Given the description of an element on the screen output the (x, y) to click on. 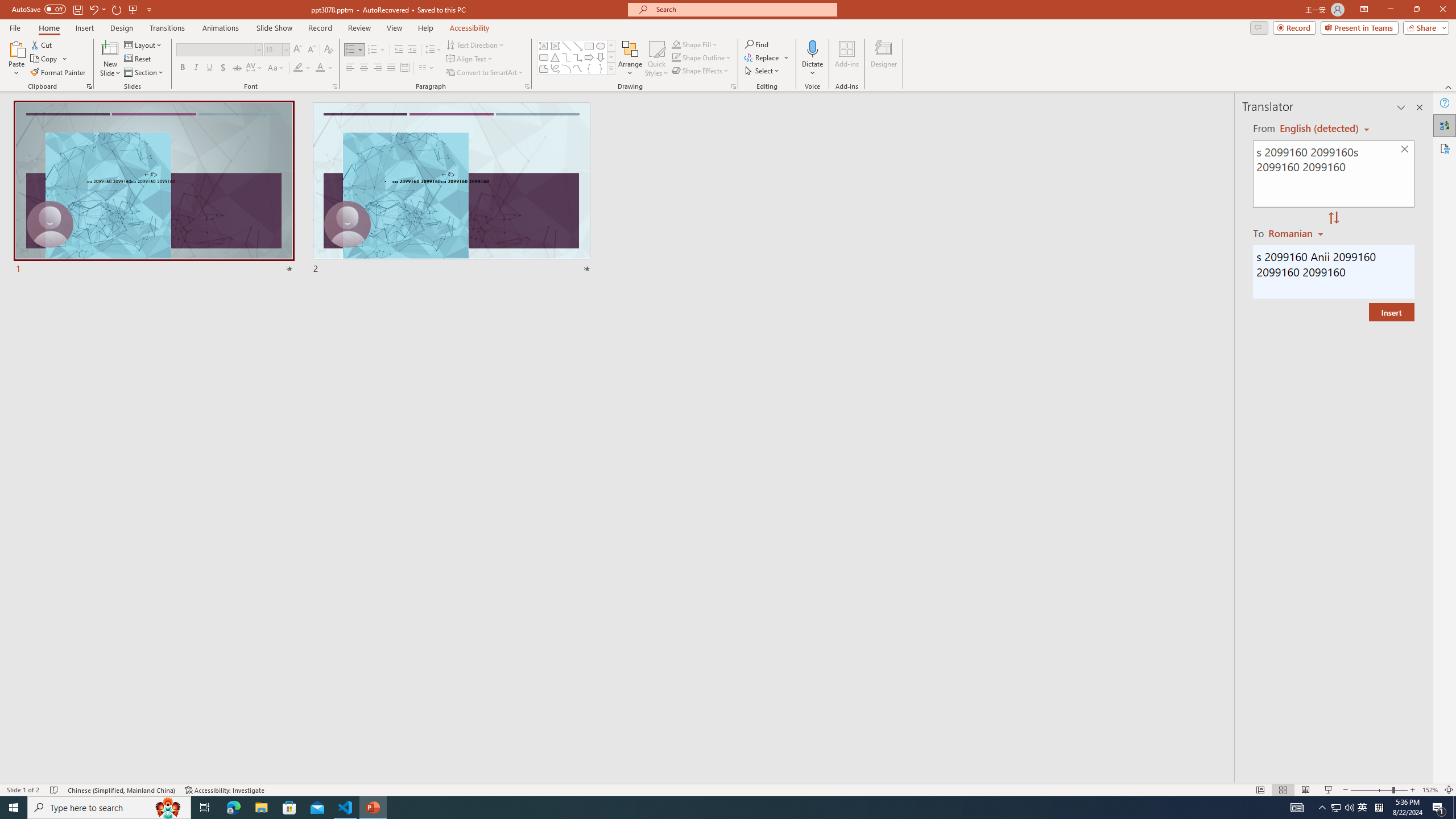
Office Clipboard... (88, 85)
Section (144, 72)
